Given the description of an element on the screen output the (x, y) to click on. 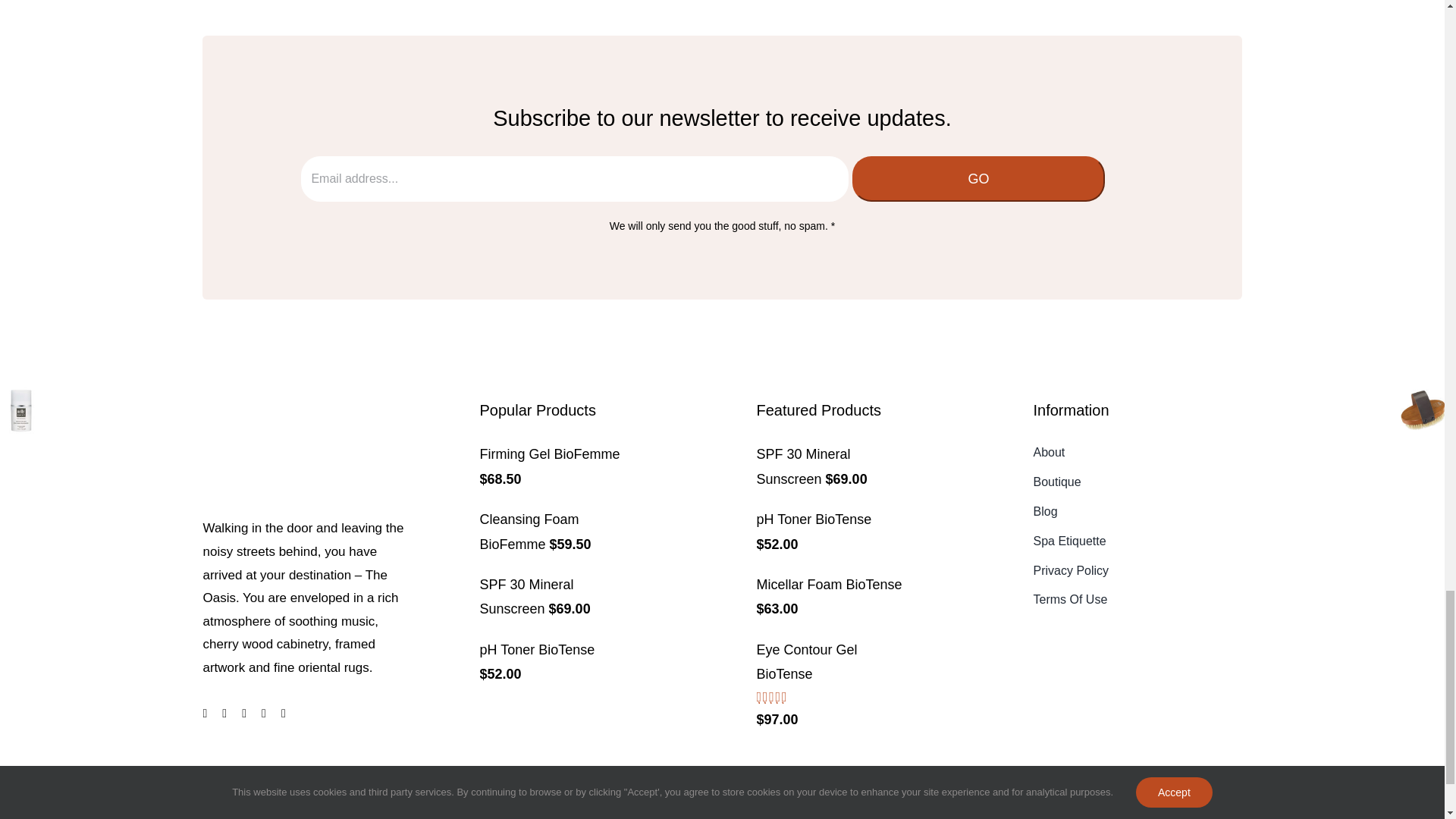
GO (978, 178)
